Given the description of an element on the screen output the (x, y) to click on. 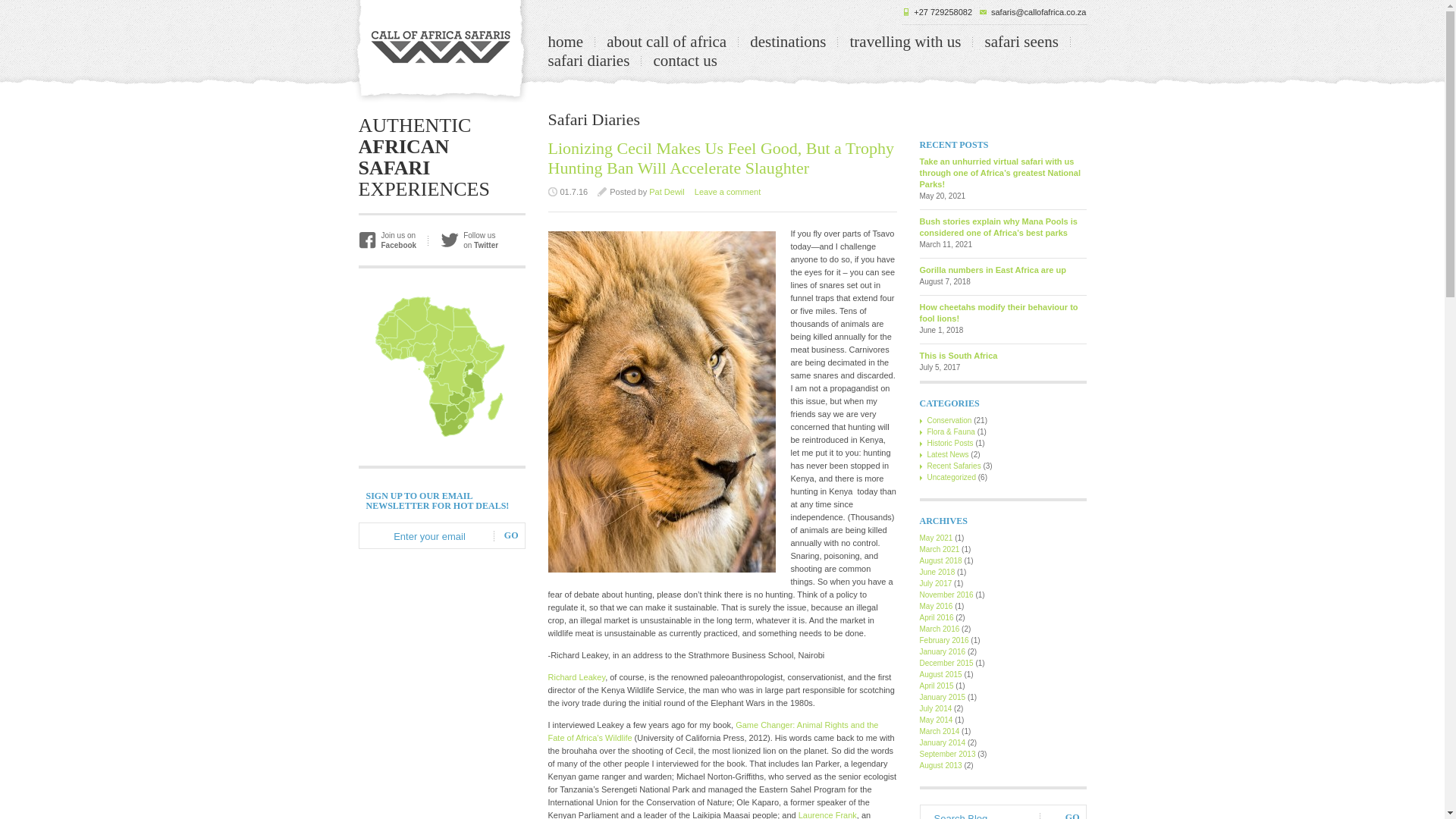
Search Blog (983, 815)
safari seens (1021, 41)
travelling with us (904, 41)
contact us (684, 60)
safari diaries (587, 60)
go (510, 535)
about call of africa (666, 41)
Search Blog (983, 815)
home (565, 41)
